Given the description of an element on the screen output the (x, y) to click on. 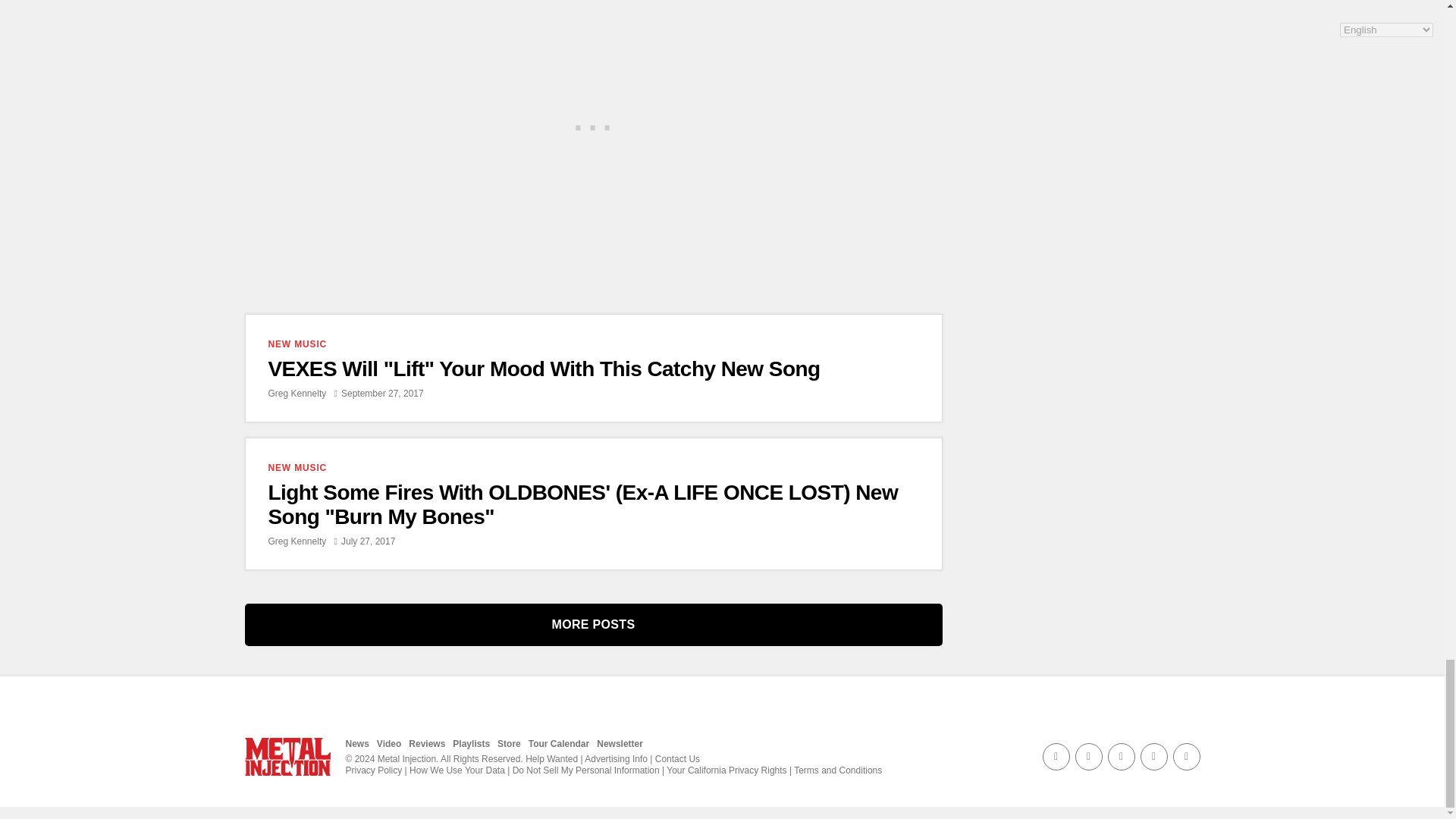
Posts by Greg Kennelty (296, 541)
Posts by Greg Kennelty (296, 393)
